Given the description of an element on the screen output the (x, y) to click on. 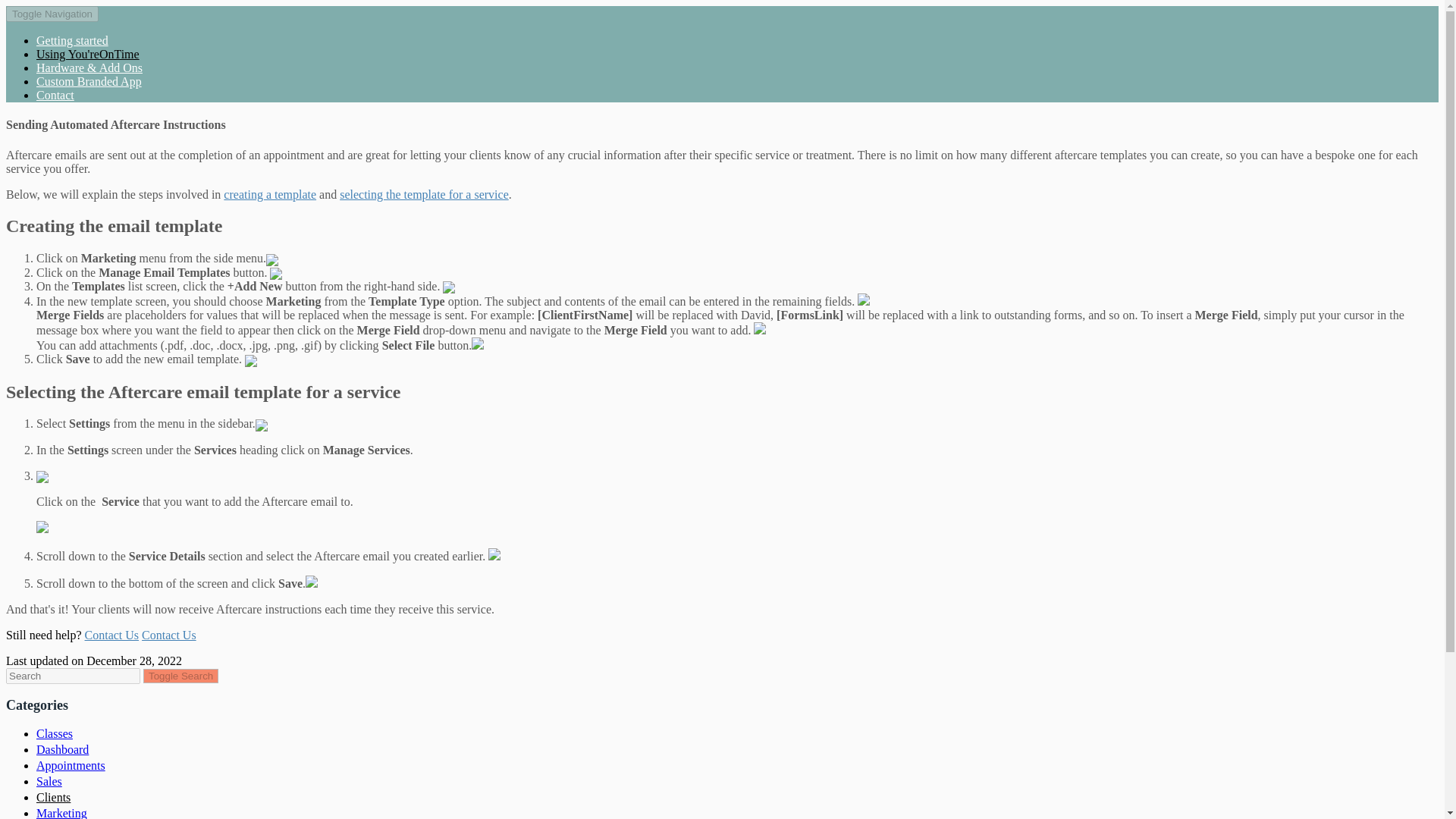
Sales (49, 780)
Contact (55, 94)
Custom Branded App (88, 81)
selecting the template for a service (423, 194)
Dashboard (62, 748)
search-query (72, 675)
creating a template (269, 194)
Toggle Navigation (52, 13)
Marketing (61, 812)
Classes (54, 733)
